Given the description of an element on the screen output the (x, y) to click on. 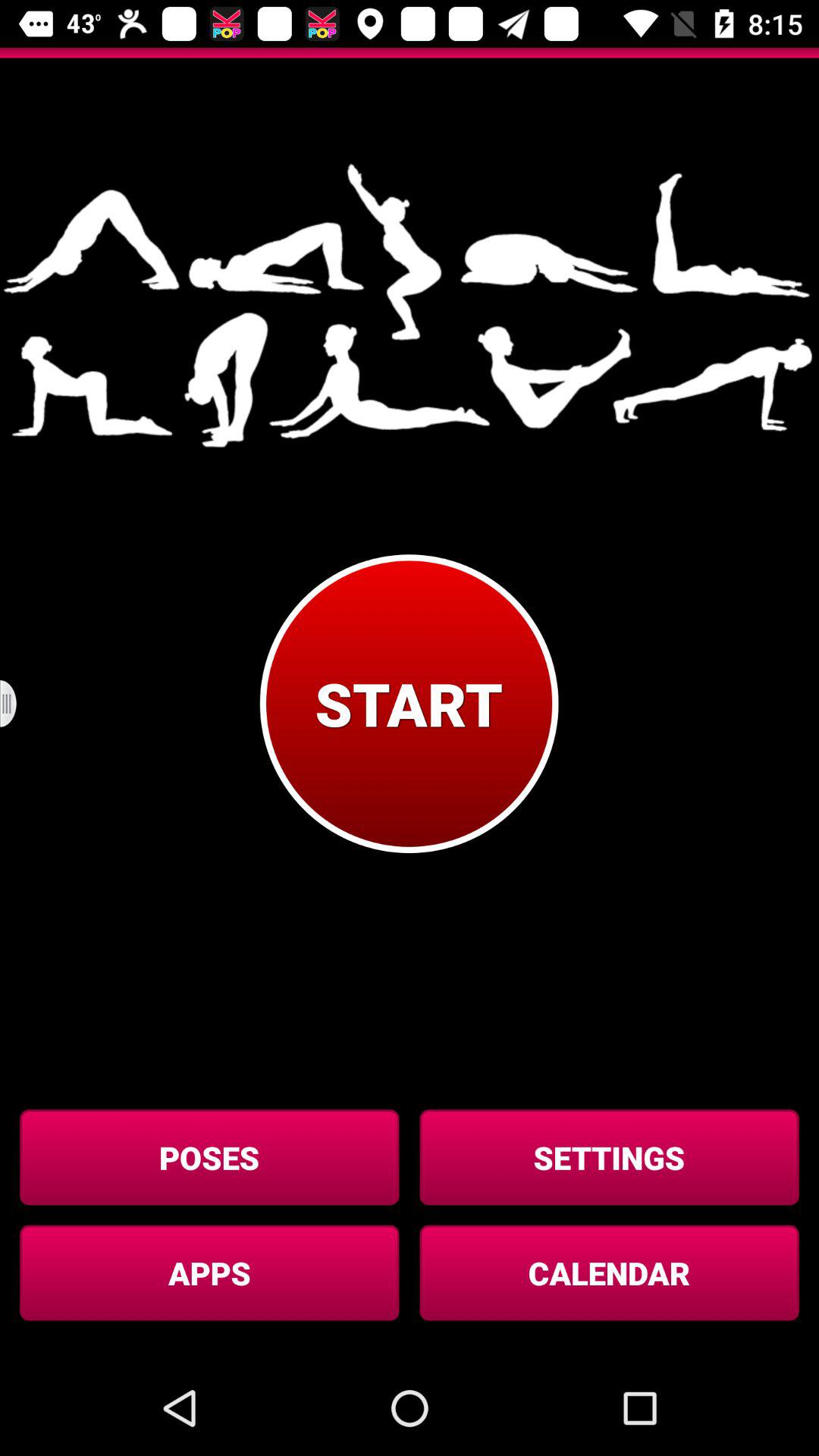
click settings icon (609, 1157)
